Given the description of an element on the screen output the (x, y) to click on. 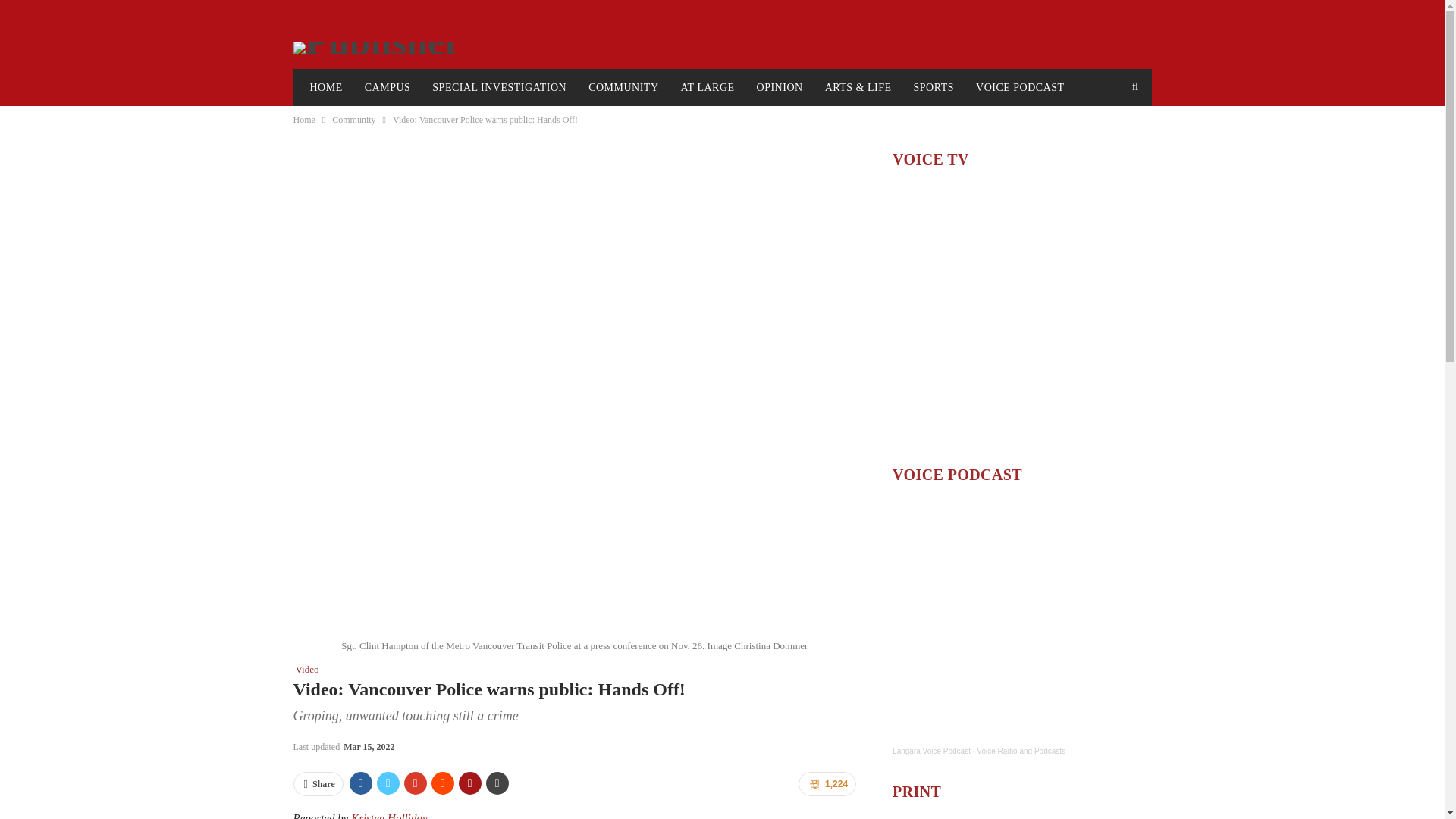
OPINION (780, 87)
Home (303, 119)
Kristen Holliday (388, 815)
Community (353, 119)
HOME (324, 87)
VOICE PODCAST (1020, 87)
AT LARGE (707, 87)
Voice Radio and Podcasts (1020, 750)
Langara Voice Podcast (931, 750)
SPORTS (933, 87)
YouTube video player (1021, 315)
Video (305, 668)
SPECIAL INVESTIGATION (499, 87)
COMMUNITY (622, 87)
CAMPUS (387, 87)
